Given the description of an element on the screen output the (x, y) to click on. 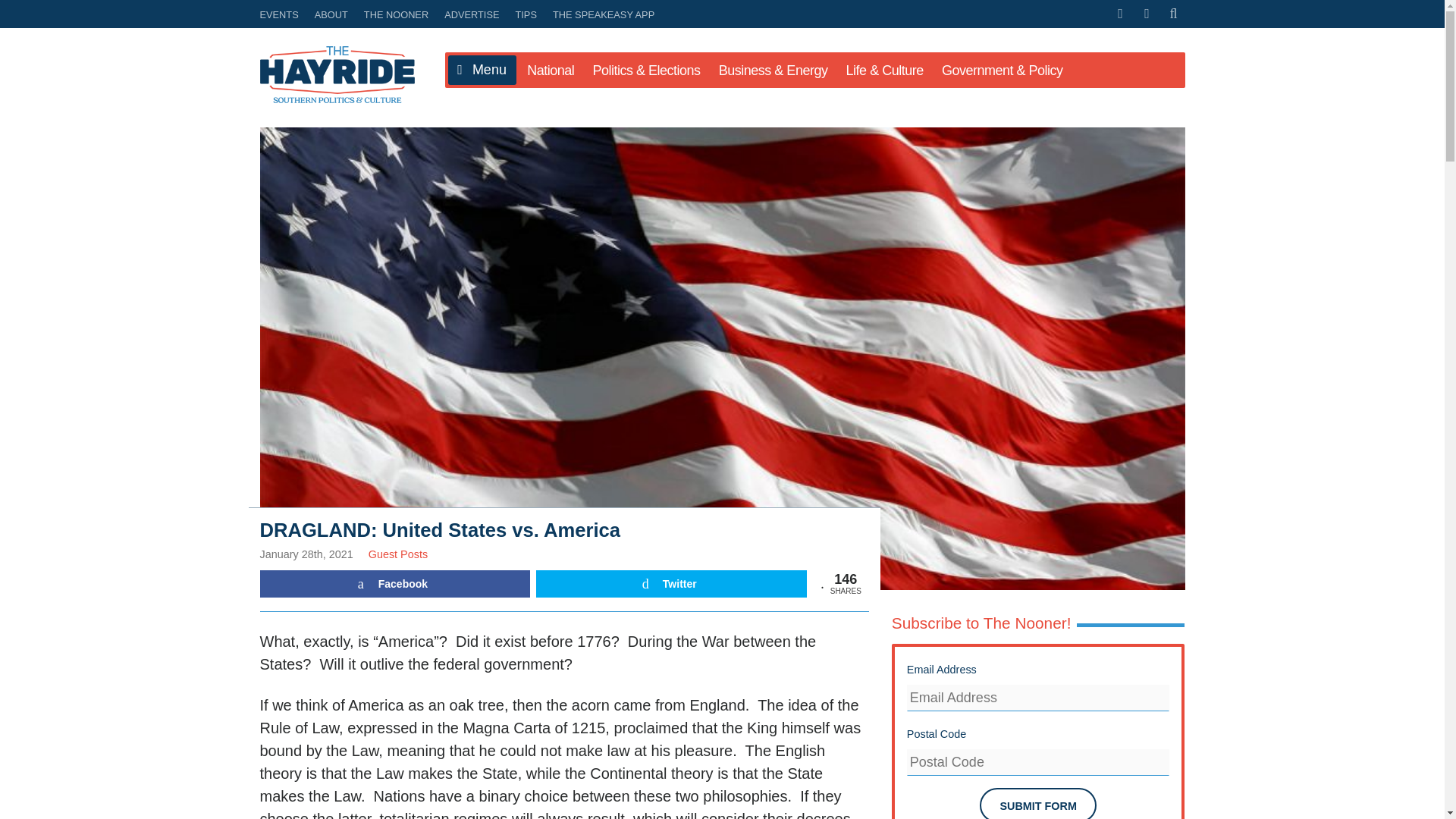
ADVERTISE (471, 14)
Share on Twitter (670, 583)
Guest Posts (398, 553)
National (549, 70)
ABOUT (330, 14)
TIPS (526, 14)
THE SPEAKEASY APP (600, 14)
Twitter (670, 583)
EVENTS (281, 14)
Facebook (394, 583)
